Given the description of an element on the screen output the (x, y) to click on. 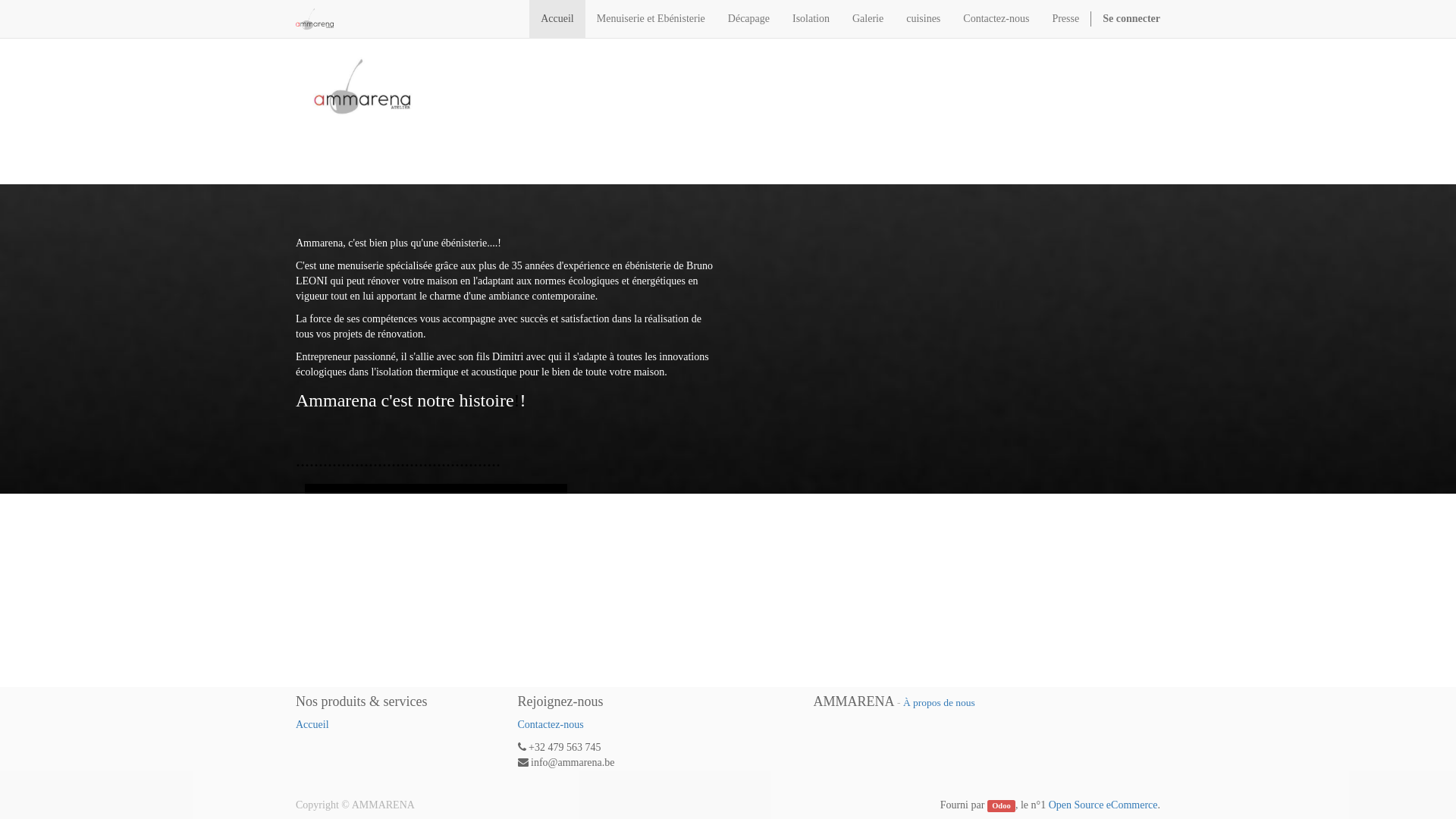
AMMARENA Element type: hover (314, 18)
Presse Element type: text (1065, 18)
Se connecter Element type: text (1131, 18)
Odoo Element type: text (1001, 806)
Accueil Element type: text (312, 724)
Contactez-nous Element type: text (550, 724)
cuisines Element type: text (922, 18)
Isolation Element type: text (810, 18)
Galerie Element type: text (867, 18)
Contactez-nous Element type: text (995, 18)
Accueil Element type: text (557, 18)
Open Source eCommerce Element type: text (1102, 804)
